Given the description of an element on the screen output the (x, y) to click on. 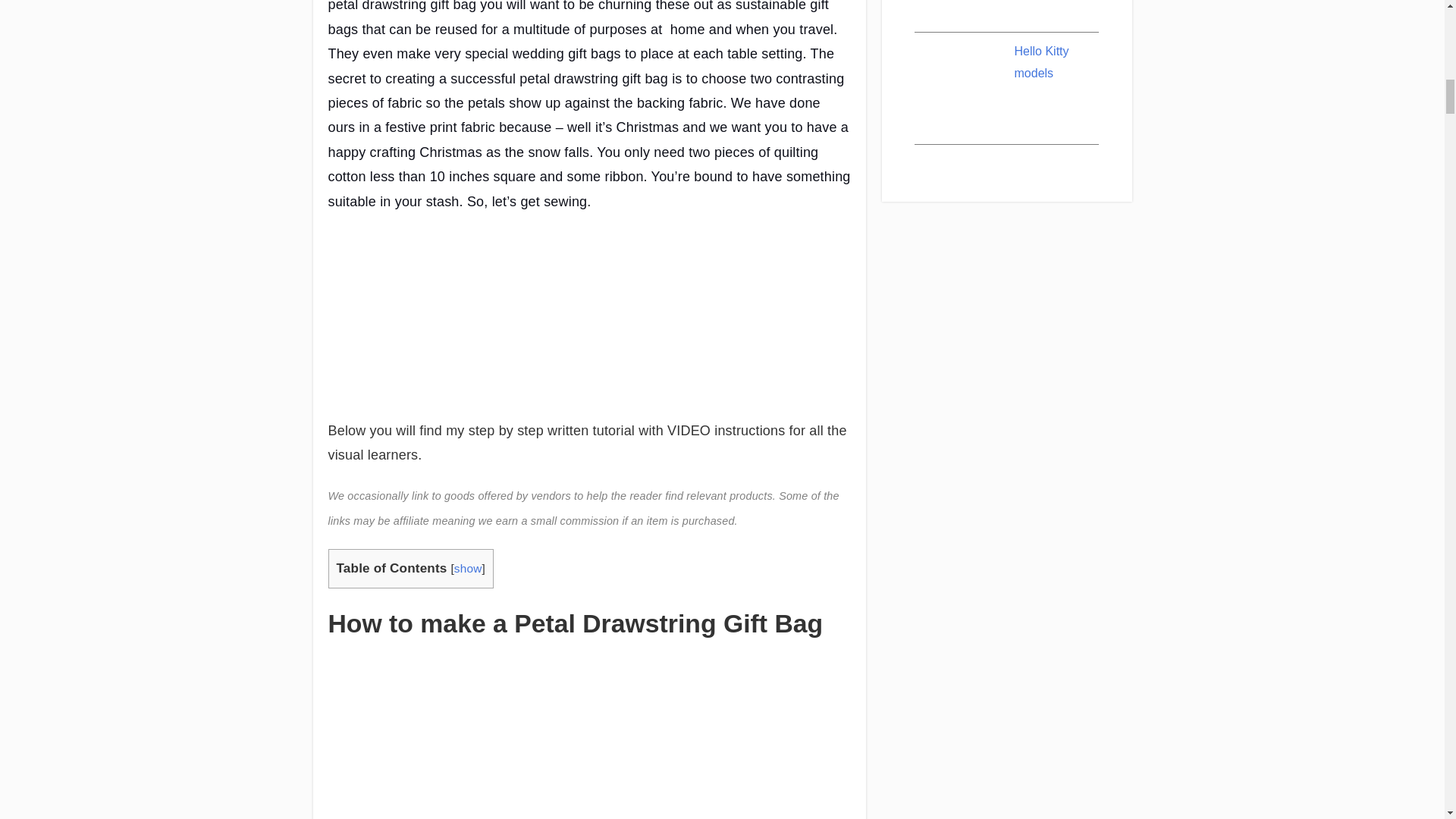
show (467, 567)
